Given the description of an element on the screen output the (x, y) to click on. 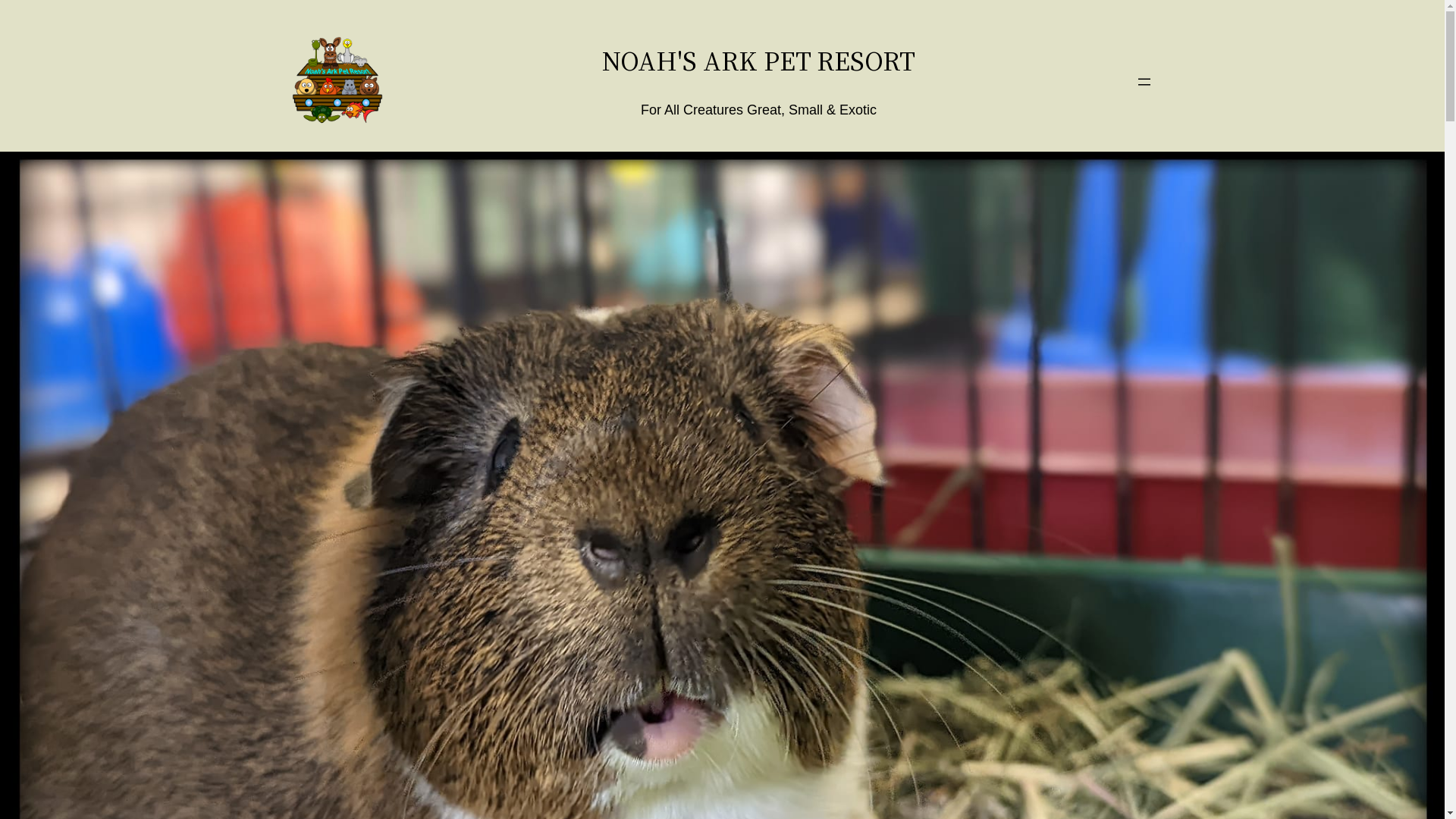
NOAH'S ARK PET RESORT Element type: text (758, 60)
